Given the description of an element on the screen output the (x, y) to click on. 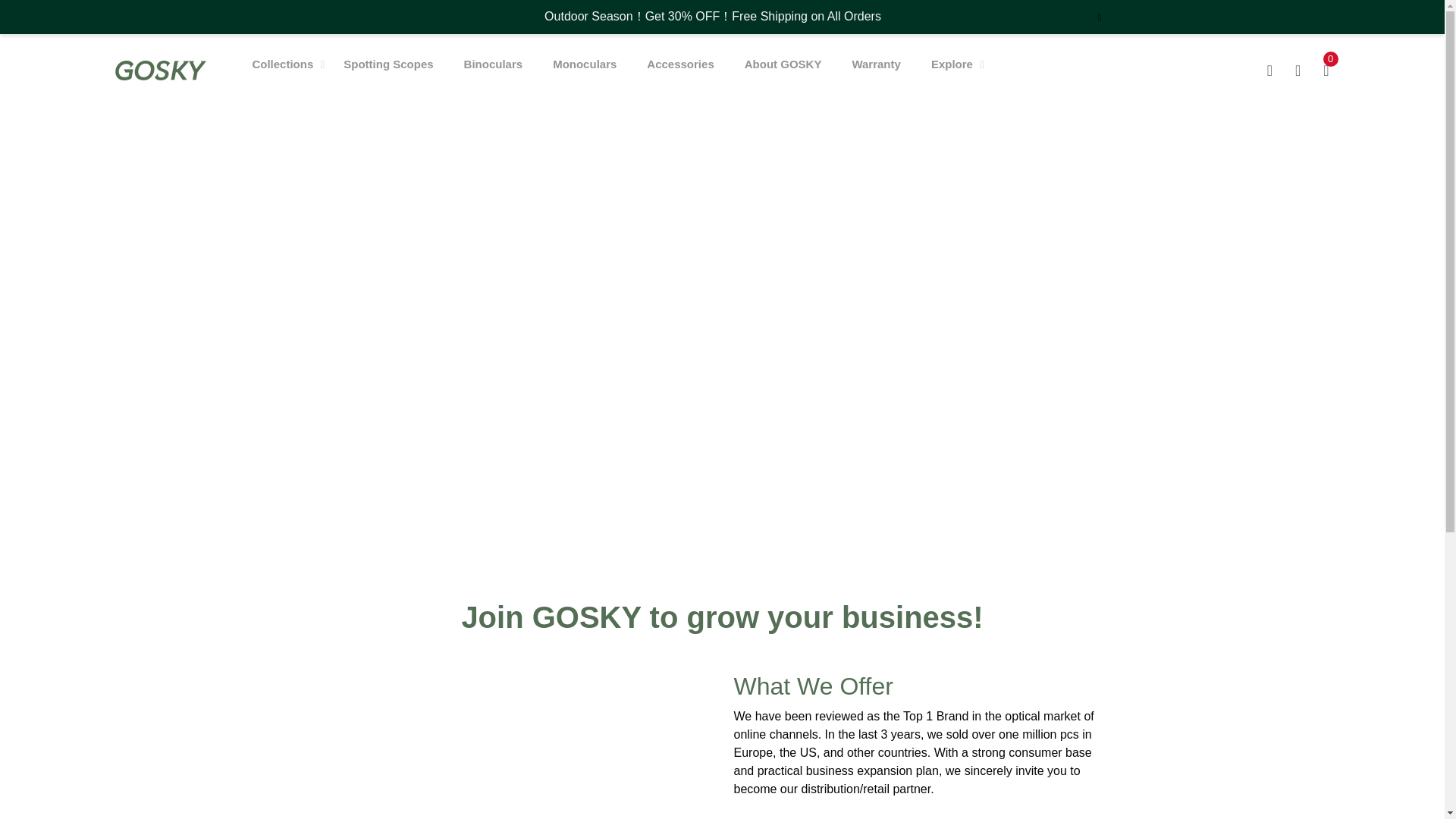
Monoculars (584, 64)
Spotting Scopes (387, 64)
About GOSKY (783, 64)
Accessories (679, 64)
Binoculars (493, 64)
Collections (282, 64)
